Given the description of an element on the screen output the (x, y) to click on. 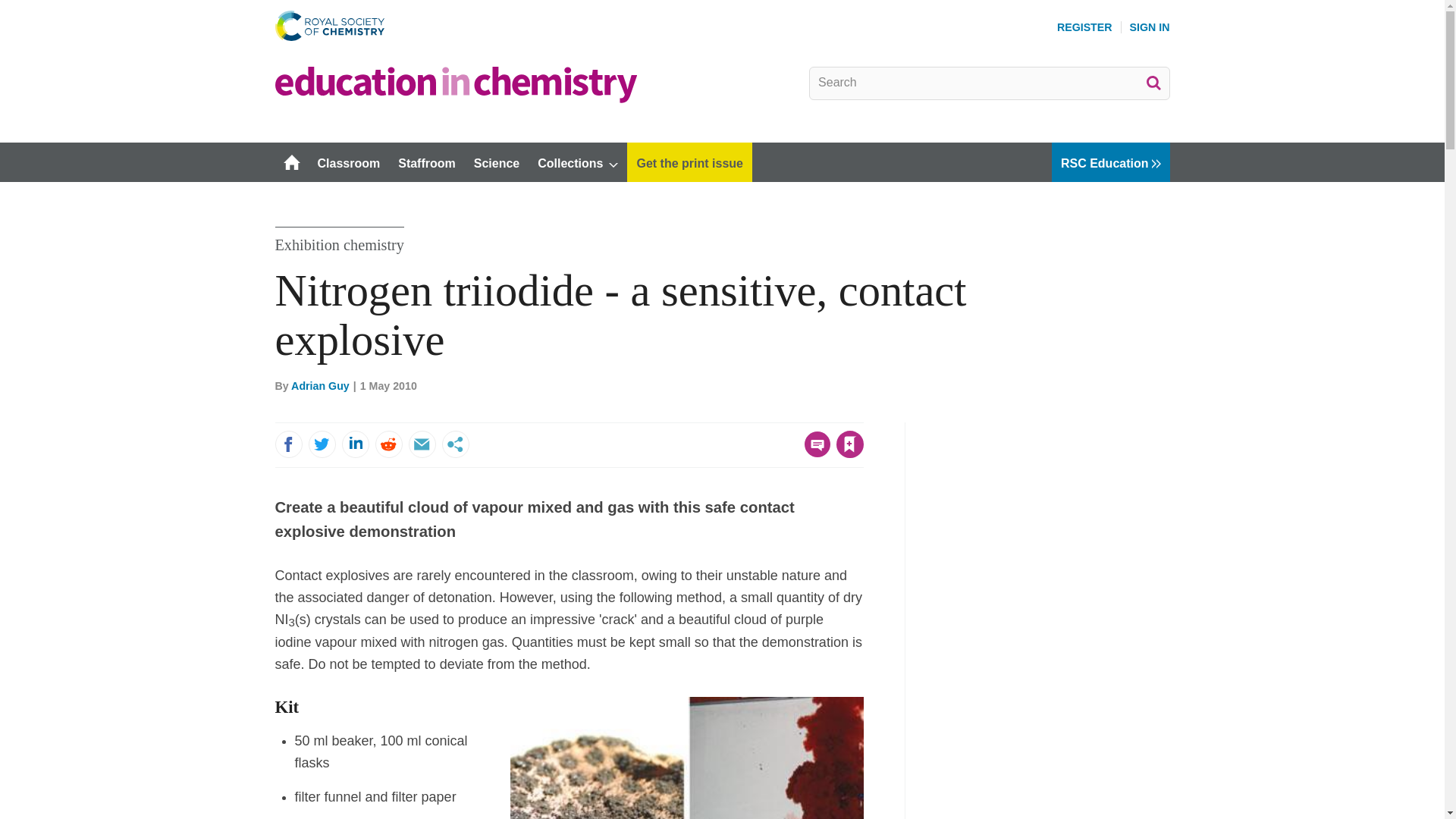
SEARCH (1152, 82)
REGISTER (1084, 27)
Classroom (347, 161)
Science (496, 161)
More share options (454, 443)
Share this on Facebook (288, 443)
No comments (812, 453)
SIGN IN (1149, 27)
Share this on LinkedIn (354, 443)
Staffroom (426, 161)
Share this on Reddit (387, 443)
Collections (577, 161)
Share this by email (421, 443)
Share this on Twitter (320, 443)
